Given the description of an element on the screen output the (x, y) to click on. 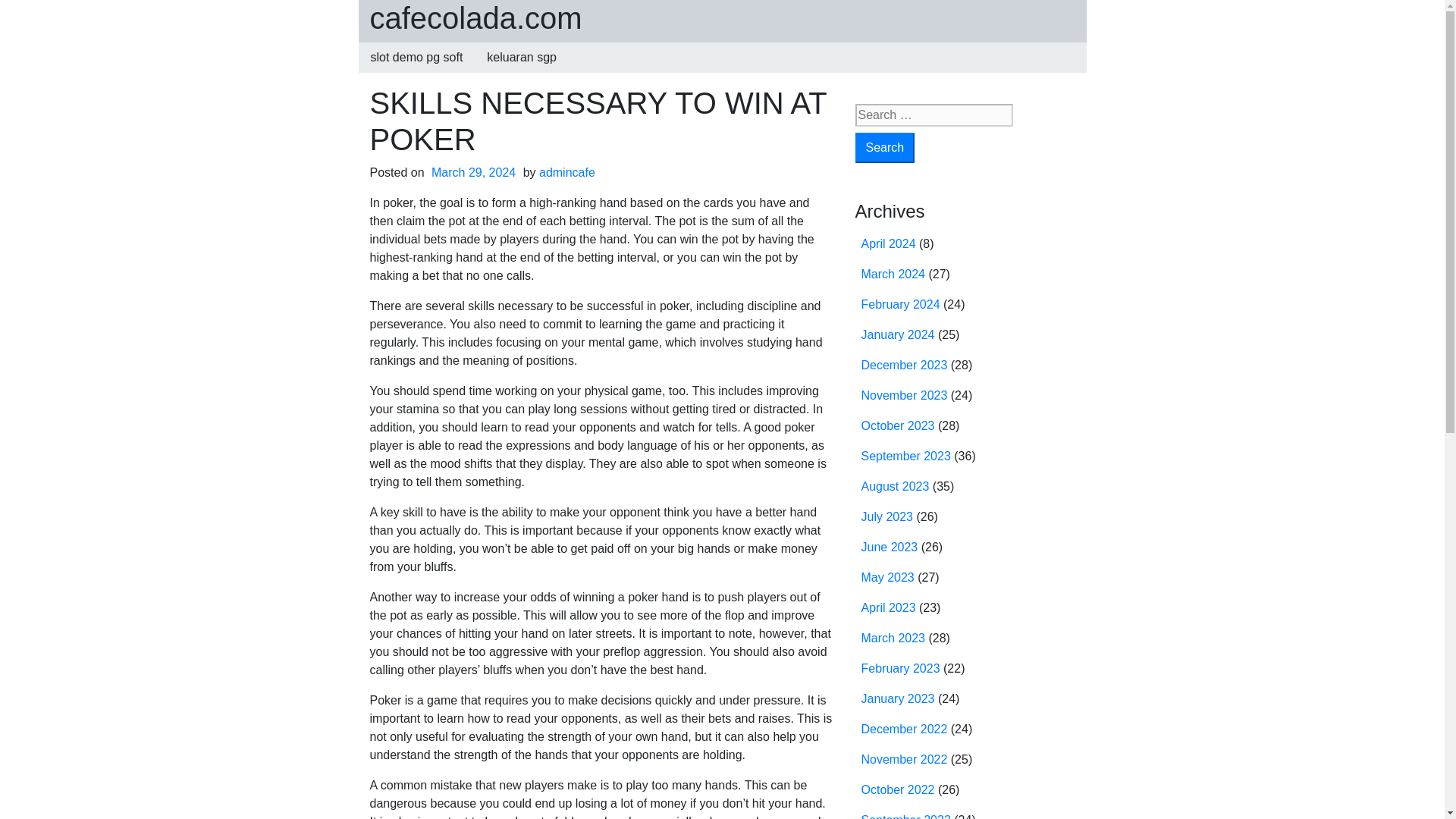
June 2023 (889, 546)
January 2024 (897, 334)
August 2023 (895, 486)
December 2023 (904, 364)
July 2023 (887, 516)
February 2024 (900, 304)
October 2022 (897, 789)
September 2022 (905, 816)
May 2023 (887, 576)
December 2022 (904, 728)
March 2024 (893, 273)
Search (885, 147)
January 2023 (897, 698)
April 2023 (888, 607)
November 2023 (904, 395)
